Given the description of an element on the screen output the (x, y) to click on. 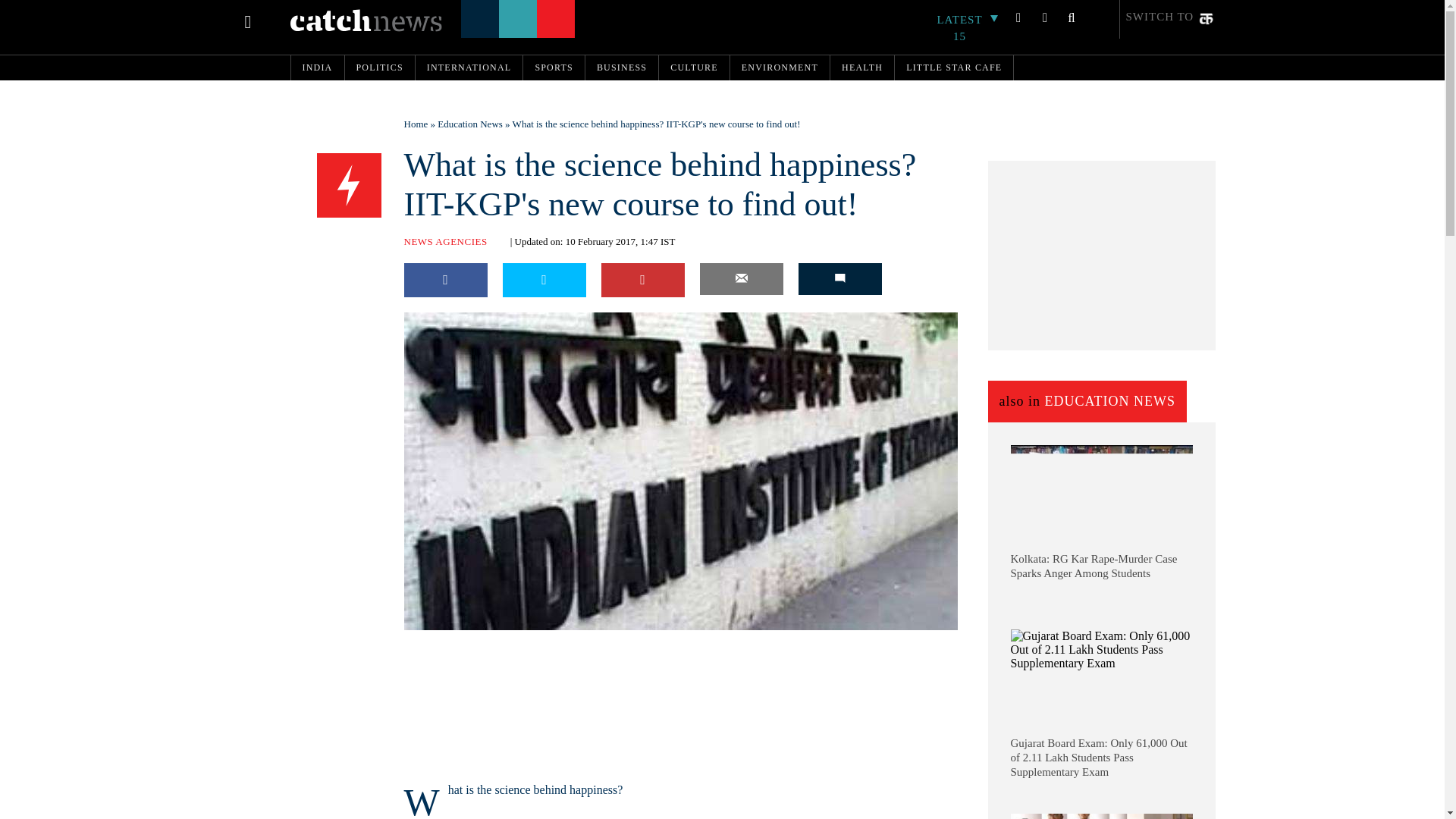
Catch News (365, 20)
LATEST 15 (968, 28)
Twitter Follow Button (501, 640)
SPEED NEWS (349, 185)
fb:like Facebook Social Plugin (422, 640)
